Given the description of an element on the screen output the (x, y) to click on. 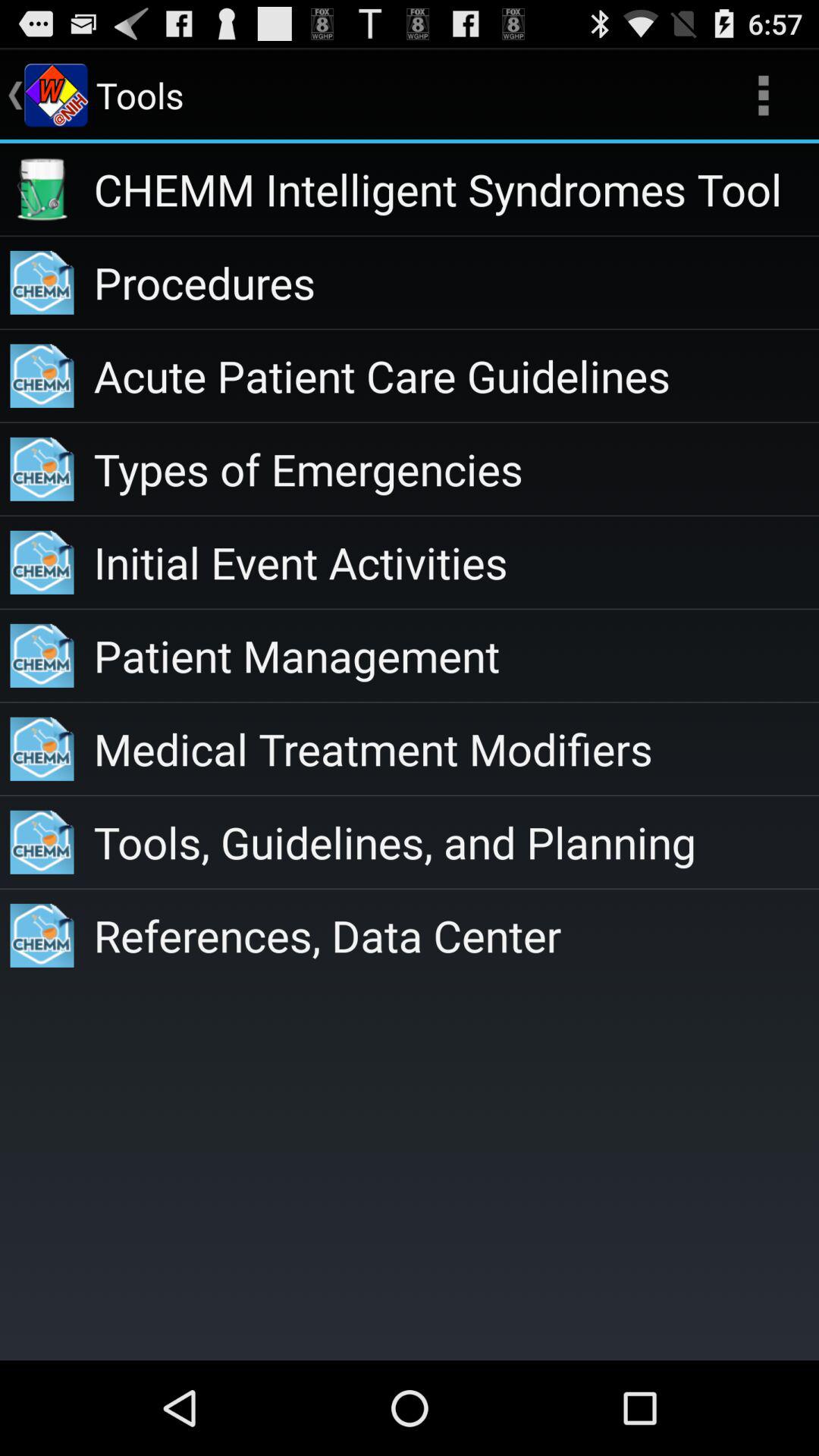
jump until the chemm intelligent syndromes item (456, 189)
